Given the description of an element on the screen output the (x, y) to click on. 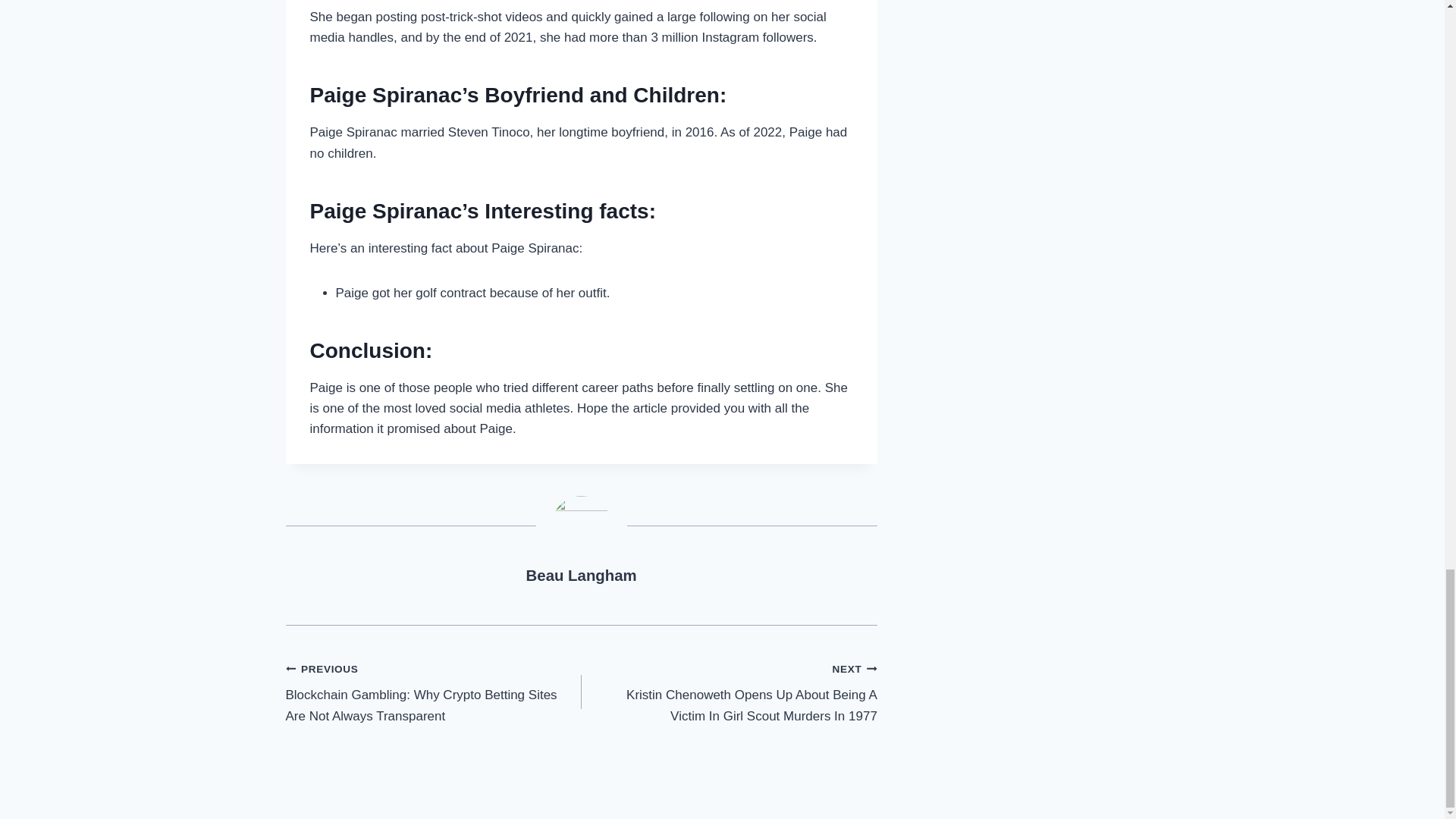
Beau Langham (581, 575)
Posts by Beau Langham (581, 575)
